Given the description of an element on the screen output the (x, y) to click on. 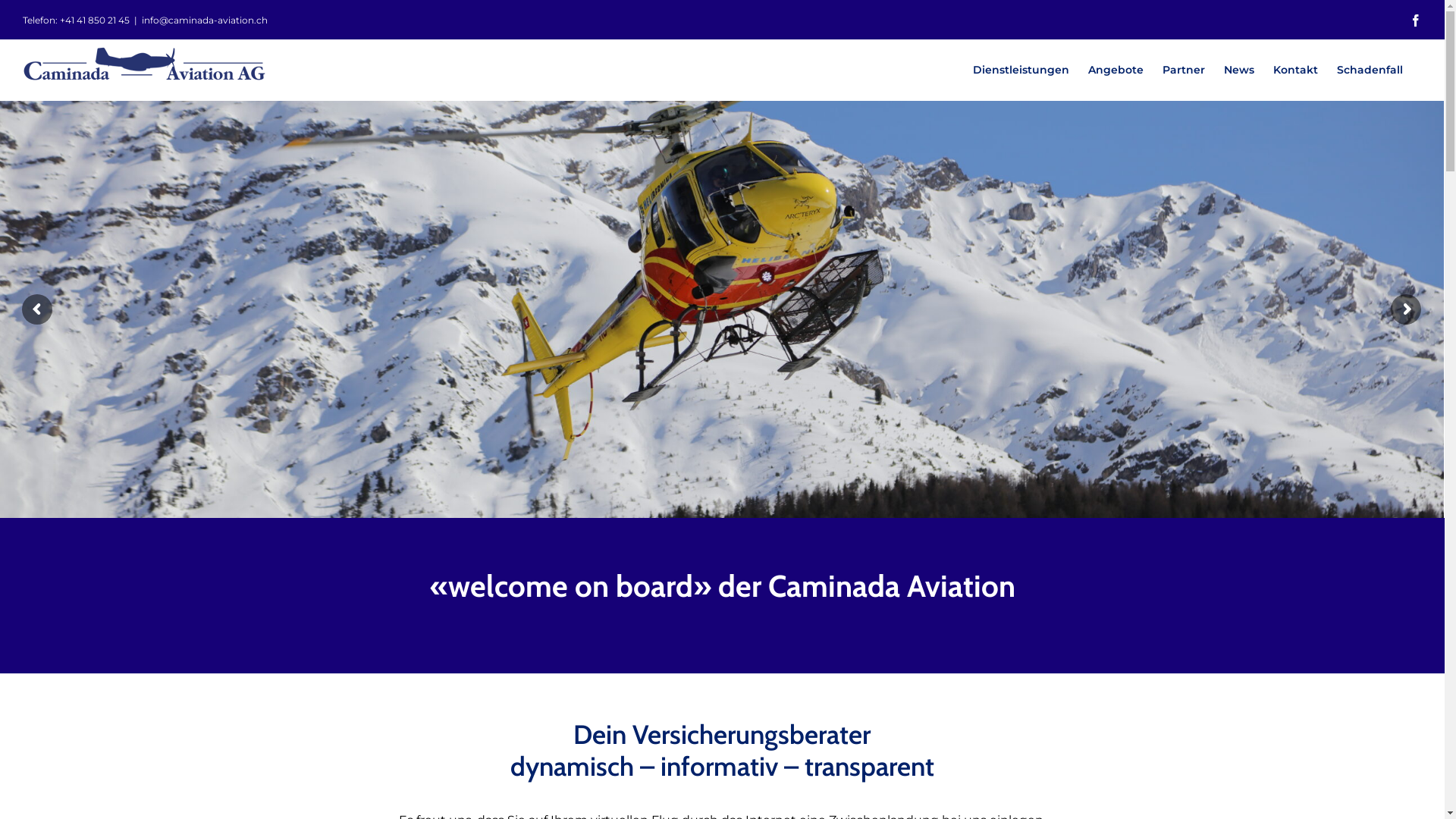
Facebook Element type: text (1415, 20)
Schadenfall Element type: text (1369, 69)
Partner Element type: text (1183, 69)
Angebote Element type: text (1115, 69)
Dienstleistungen Element type: text (1020, 69)
info@caminada-aviation.ch Element type: text (204, 19)
Kontakt Element type: text (1295, 69)
News Element type: text (1238, 69)
